Given the description of an element on the screen output the (x, y) to click on. 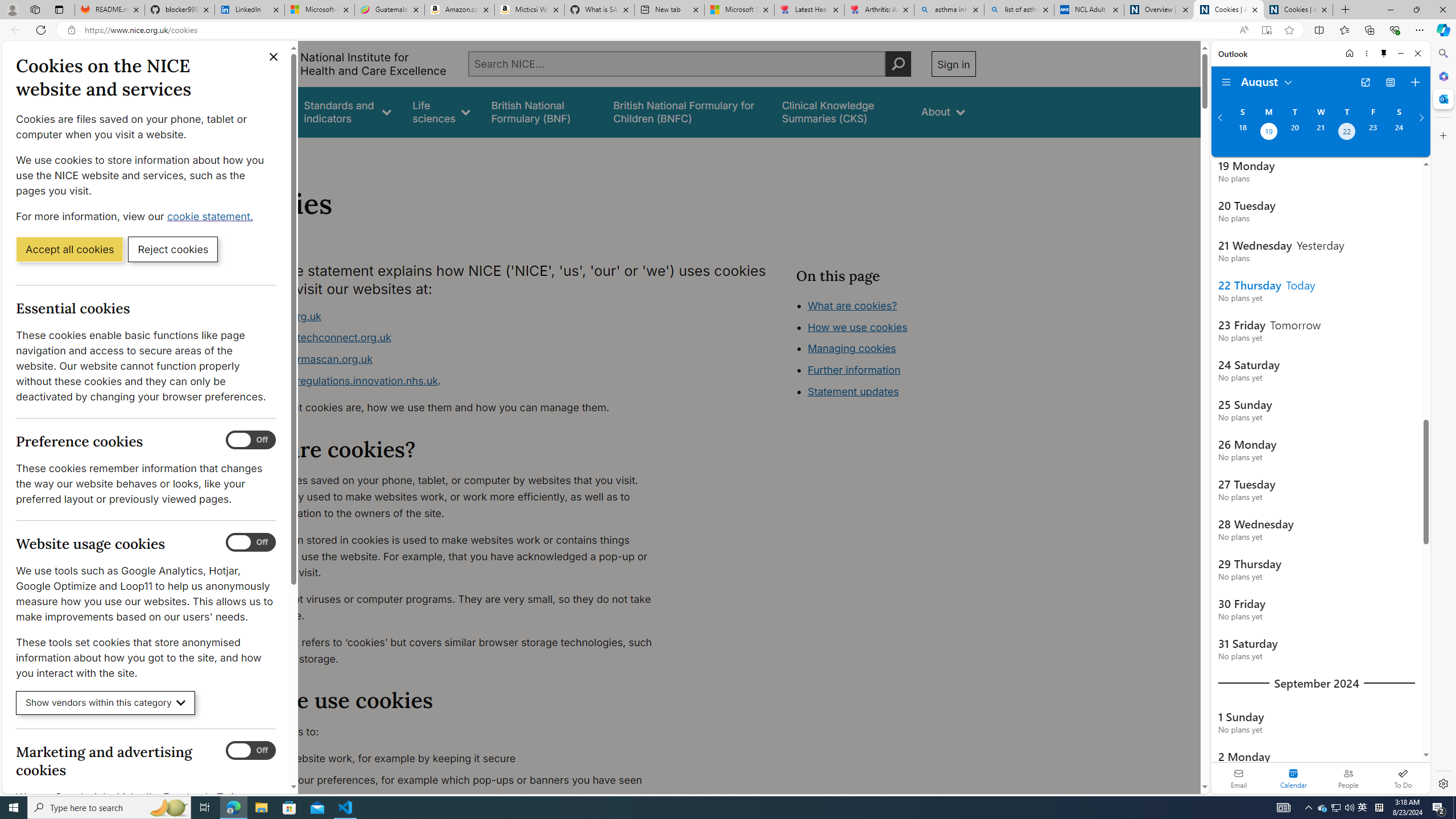
British National Formulary for Children (BNFC) (686, 111)
About (942, 111)
Enter Immersive Reader (F9) (1266, 29)
Show vendors within this category (105, 703)
asthma inhaler - Search (949, 9)
false (841, 111)
